Given the description of an element on the screen output the (x, y) to click on. 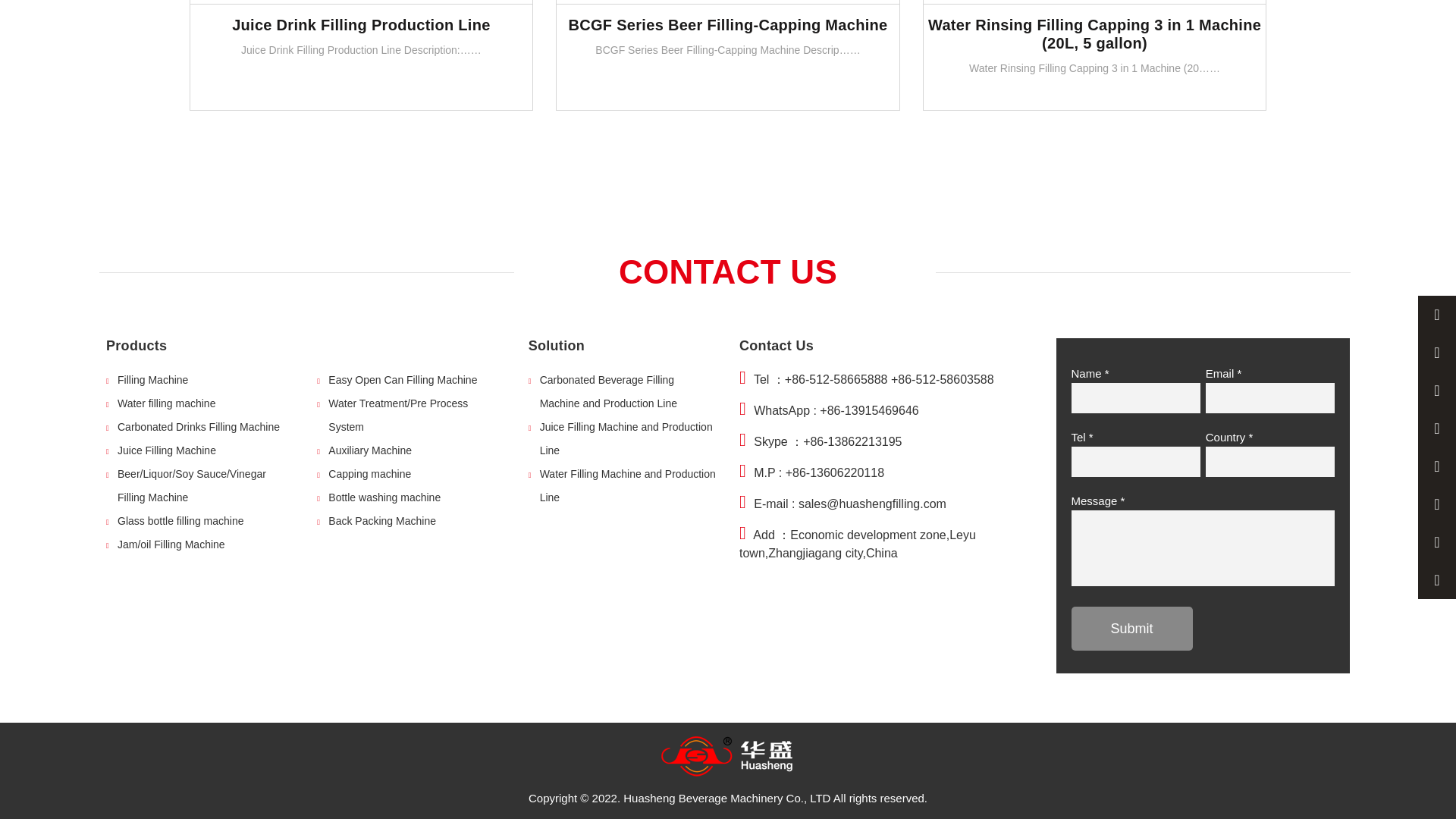
Submit (1131, 628)
Juice Drink Filling Production Line (361, 2)
BCGF Series Beer Filling-Capping Machine (727, 2)
